Given the description of an element on the screen output the (x, y) to click on. 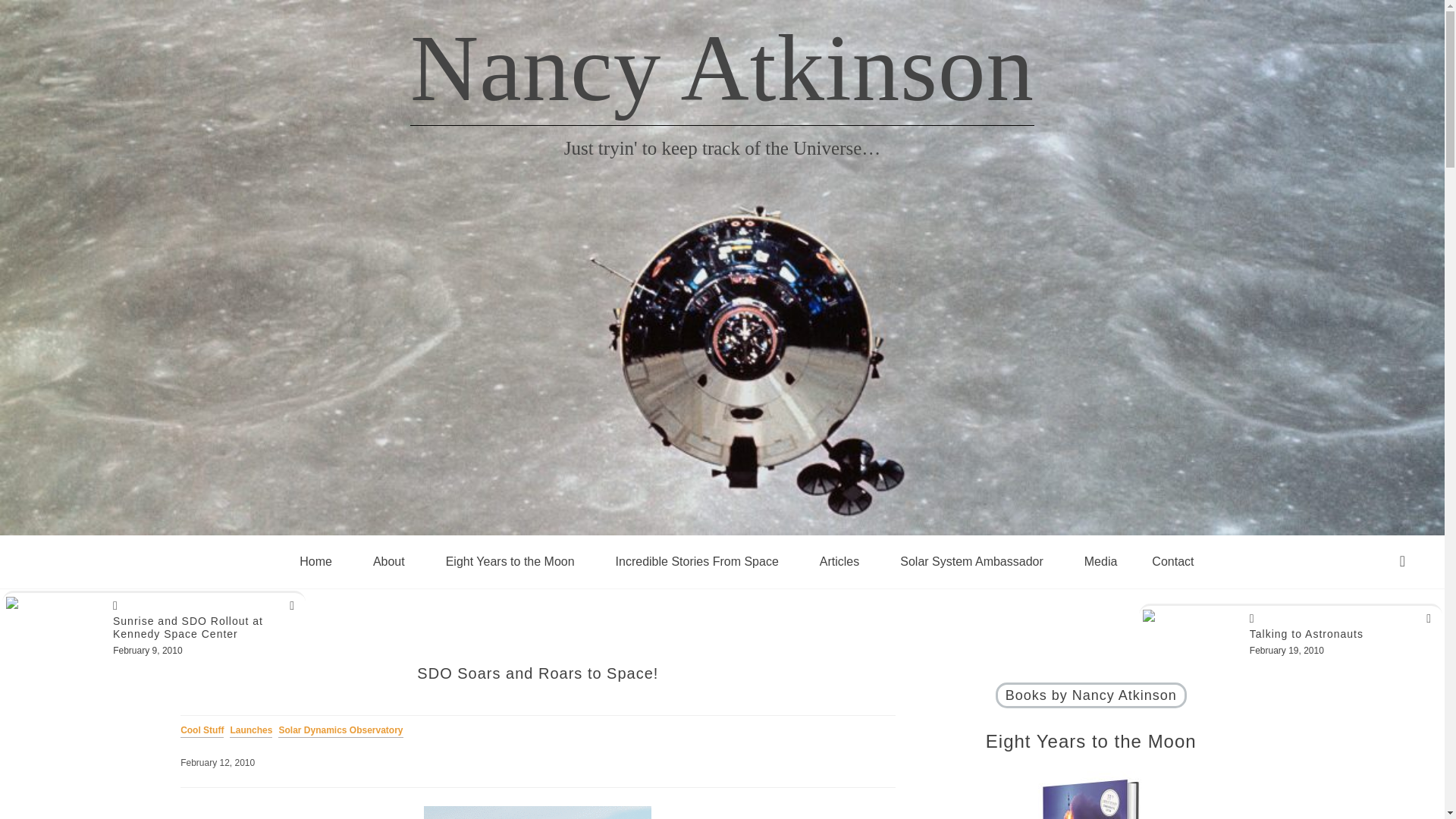
Incredible Stories From Space (697, 561)
Home (315, 561)
Contact (1172, 561)
Solar System Ambassador (971, 561)
Cool Stuff (205, 738)
Eight Years to the Moon (509, 561)
Articles (839, 561)
Solar Dynamics Observatory (343, 738)
Media (1101, 561)
About (388, 561)
Launches (254, 738)
Incredible Stories From Space (697, 561)
Eight Years to the Moon (509, 561)
Media (1101, 561)
Home (315, 561)
